Given the description of an element on the screen output the (x, y) to click on. 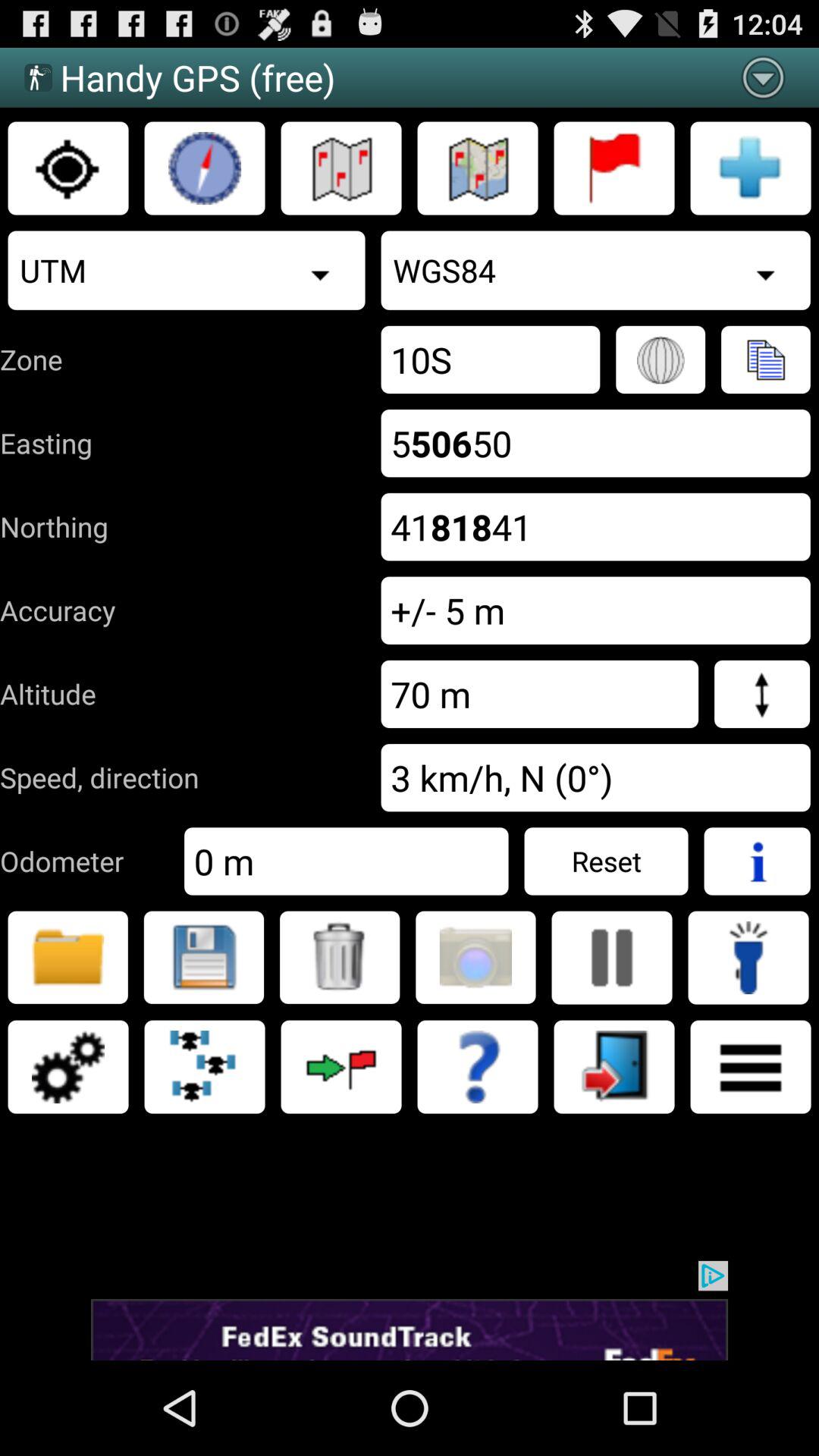
upload contact (765, 359)
